Given the description of an element on the screen output the (x, y) to click on. 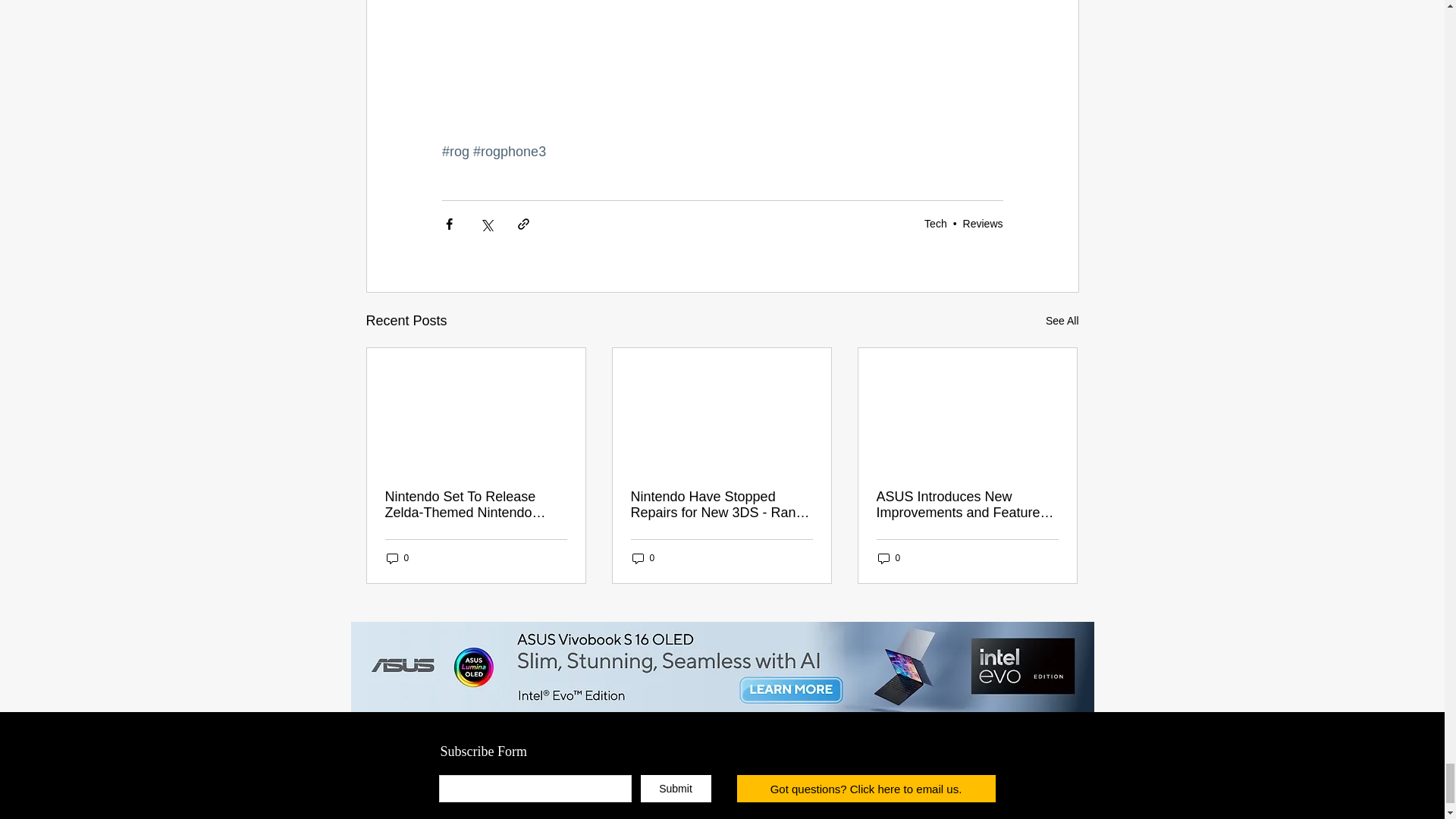
Submit (675, 788)
0 (397, 558)
0 (643, 558)
0 (889, 558)
See All (1061, 321)
Reviews (982, 223)
Tech (935, 223)
Got questions? Click here to email us. (865, 788)
